Given the description of an element on the screen output the (x, y) to click on. 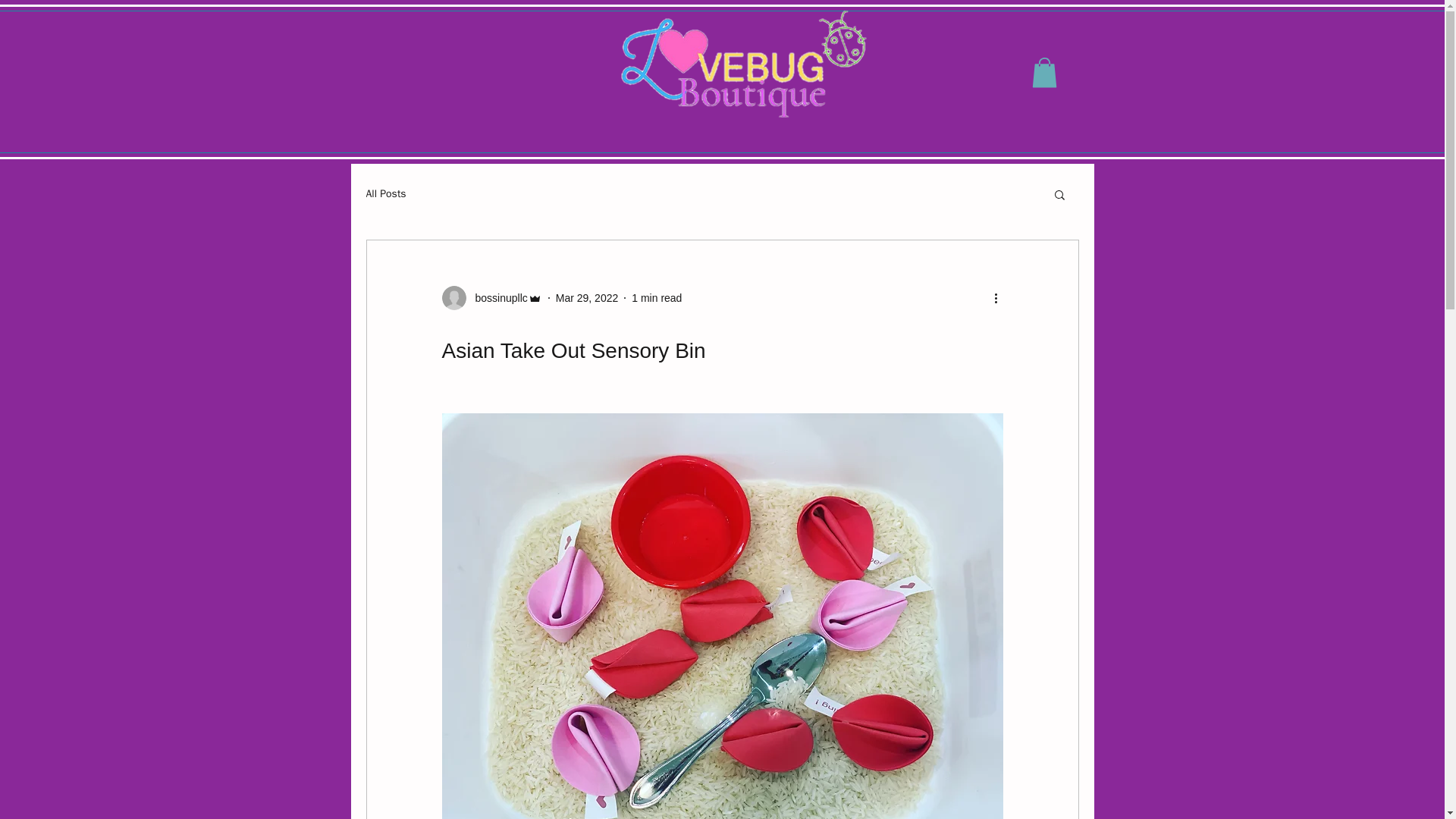
All Posts (385, 193)
bossinupllc (491, 297)
bossinupllc (496, 298)
1 min read (656, 297)
Mar 29, 2022 (587, 297)
